Given the description of an element on the screen output the (x, y) to click on. 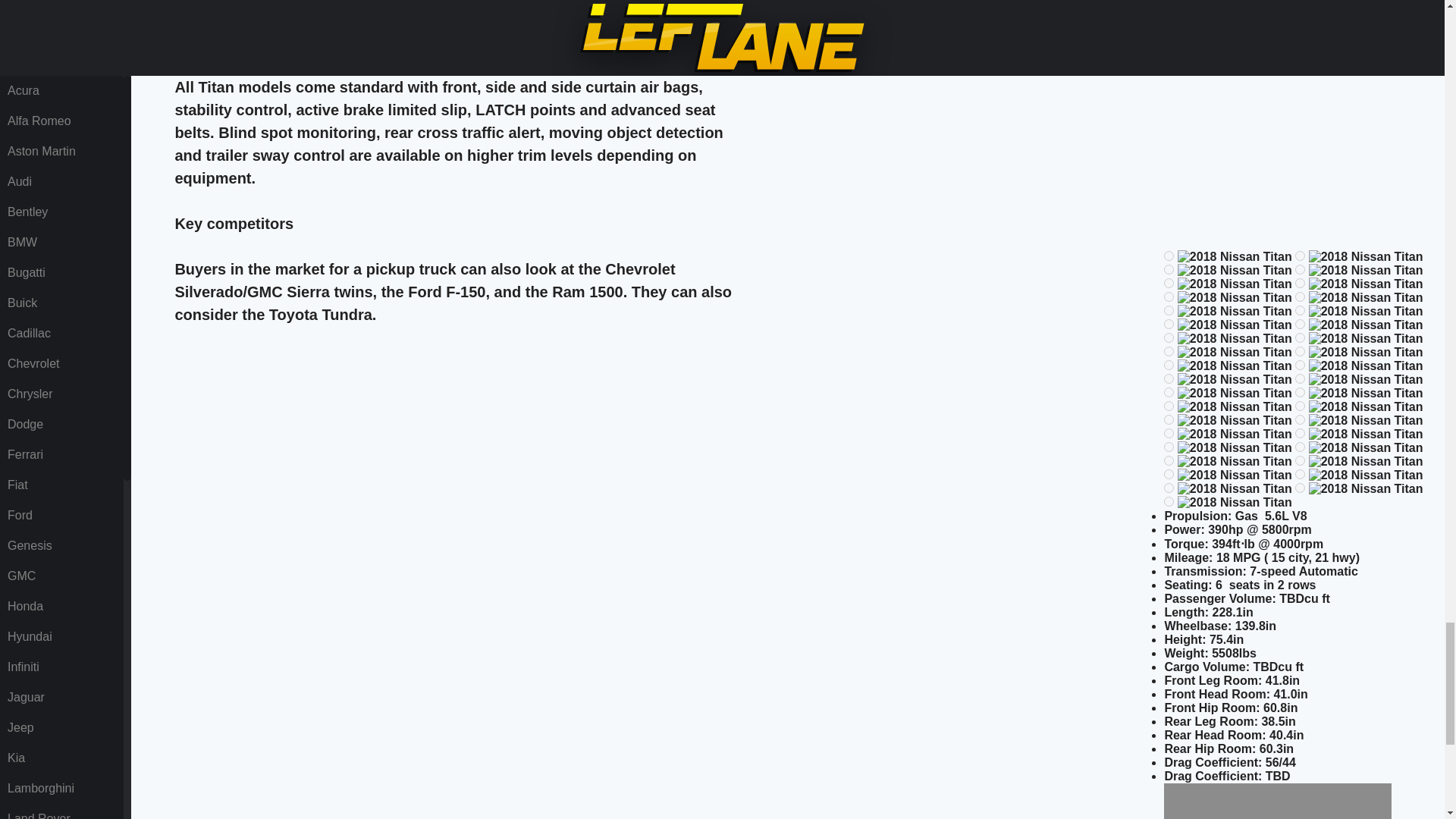
on (1168, 310)
on (1299, 337)
on (1168, 324)
on (1299, 324)
on (1168, 365)
on (1168, 378)
on (1168, 351)
on (1168, 255)
on (1168, 269)
on (1168, 283)
